Given the description of an element on the screen output the (x, y) to click on. 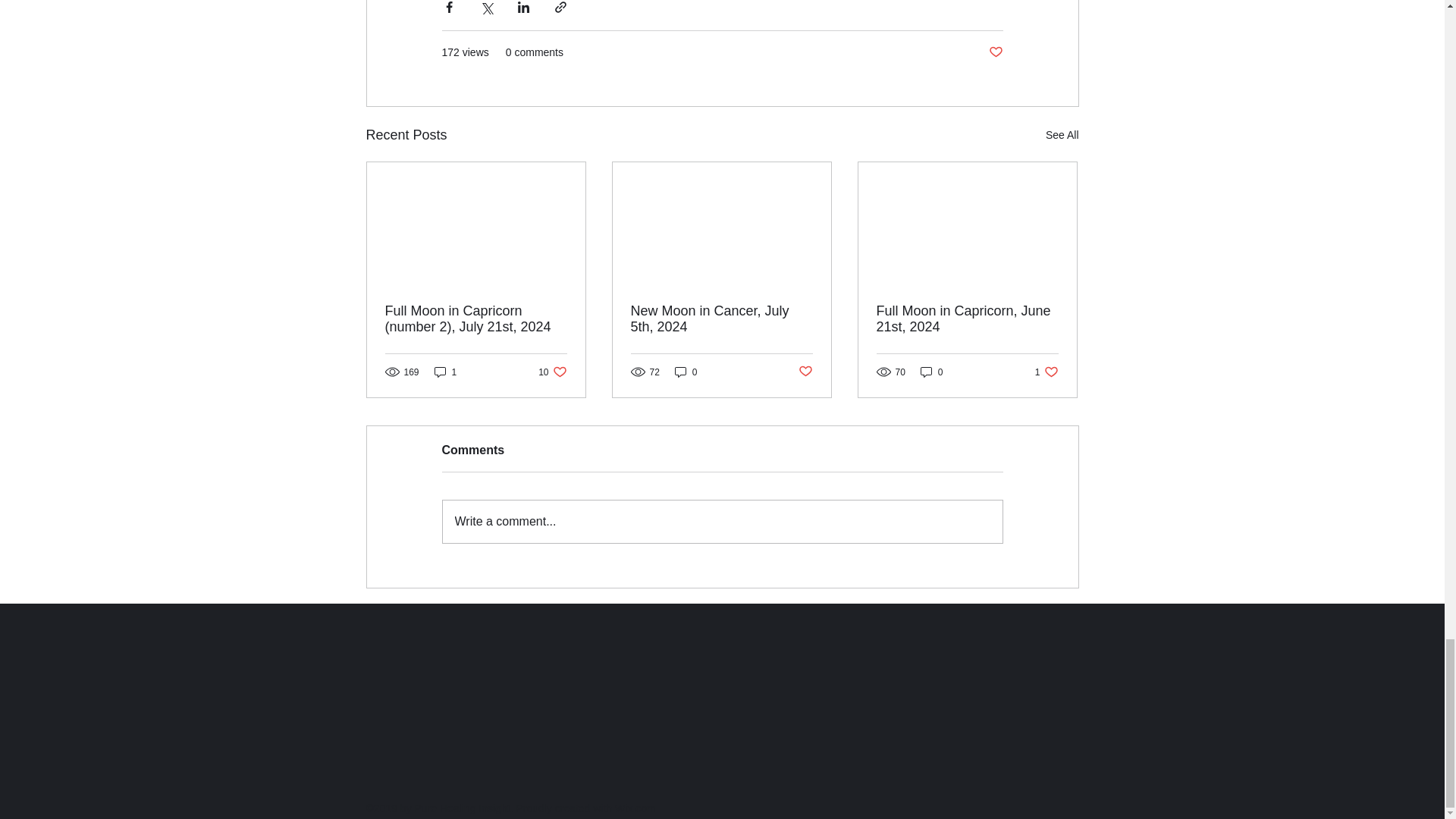
1 (445, 371)
See All (1061, 135)
Write a comment... (722, 521)
Post not marked as liked (804, 371)
0 (552, 371)
Full Moon in Capricorn, June 21st, 2024 (685, 371)
Post not marked as liked (967, 318)
0 (995, 52)
New Moon in Cancer, July 5th, 2024 (931, 371)
